Given the description of an element on the screen output the (x, y) to click on. 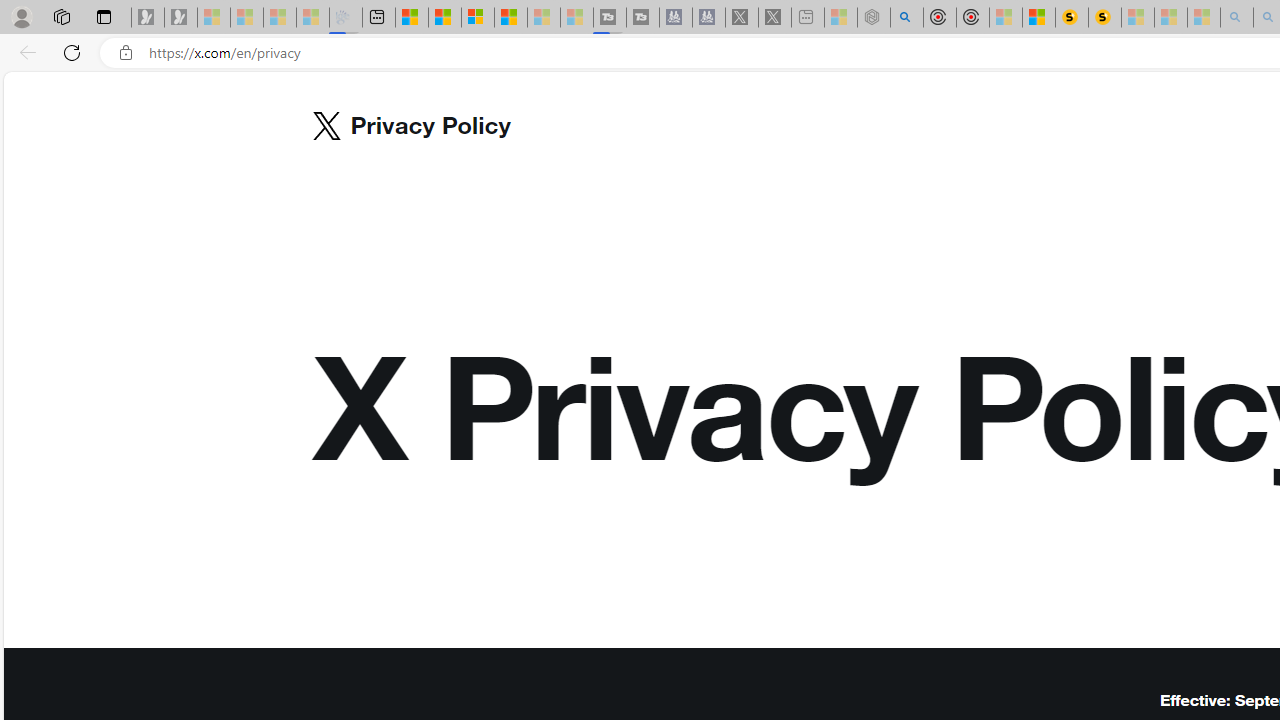
amazon - Search - Sleeping (1237, 17)
Newsletter Sign Up - Sleeping (181, 17)
poe - Search (906, 17)
Overview (478, 17)
Microsoft Start - Sleeping (543, 17)
